Given the description of an element on the screen output the (x, y) to click on. 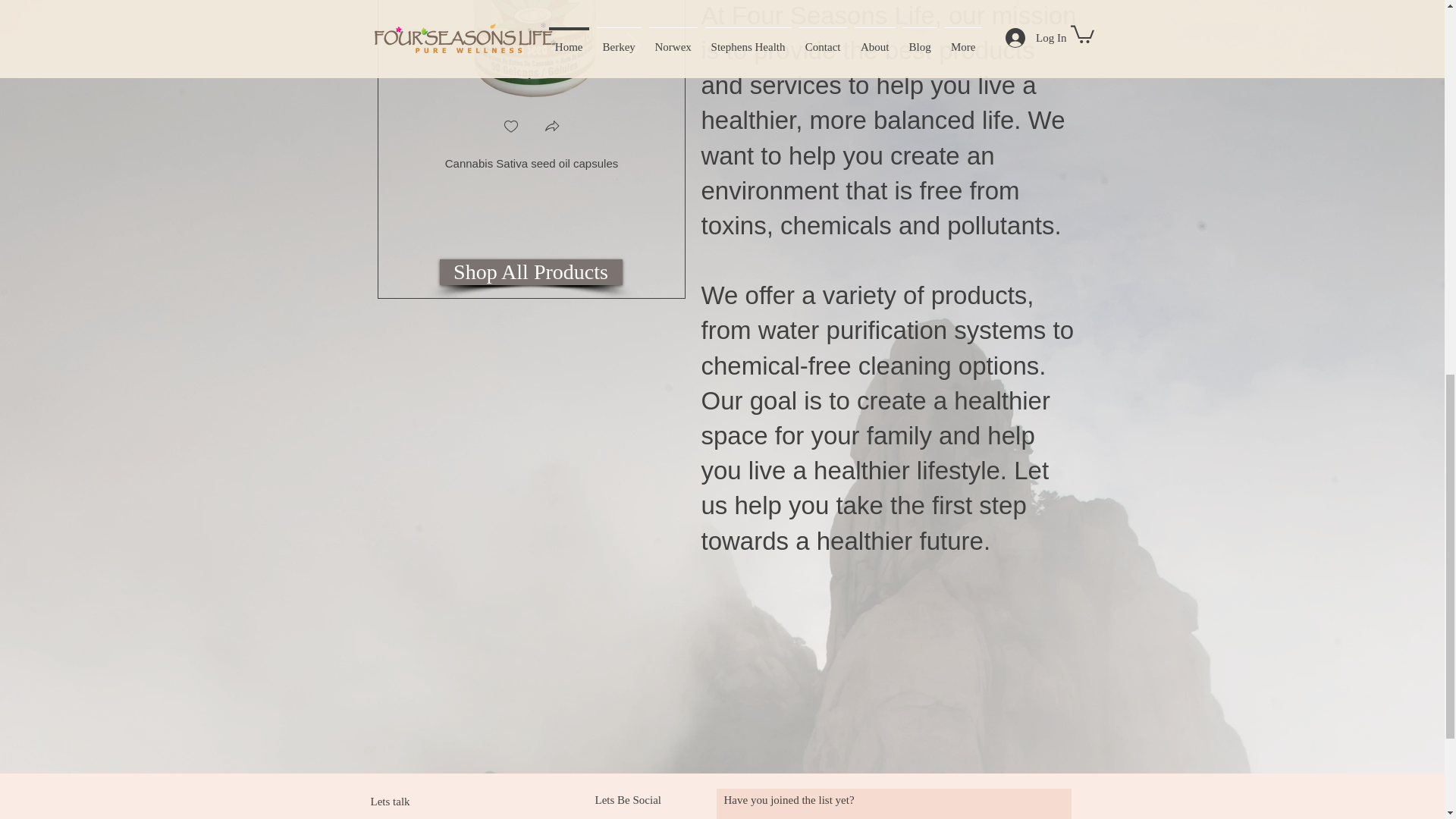
Cannabis Sativa seed oil capsules (531, 125)
Cannabis Sativa seed oil capsules (531, 125)
Shop All Products (531, 272)
